Given the description of an element on the screen output the (x, y) to click on. 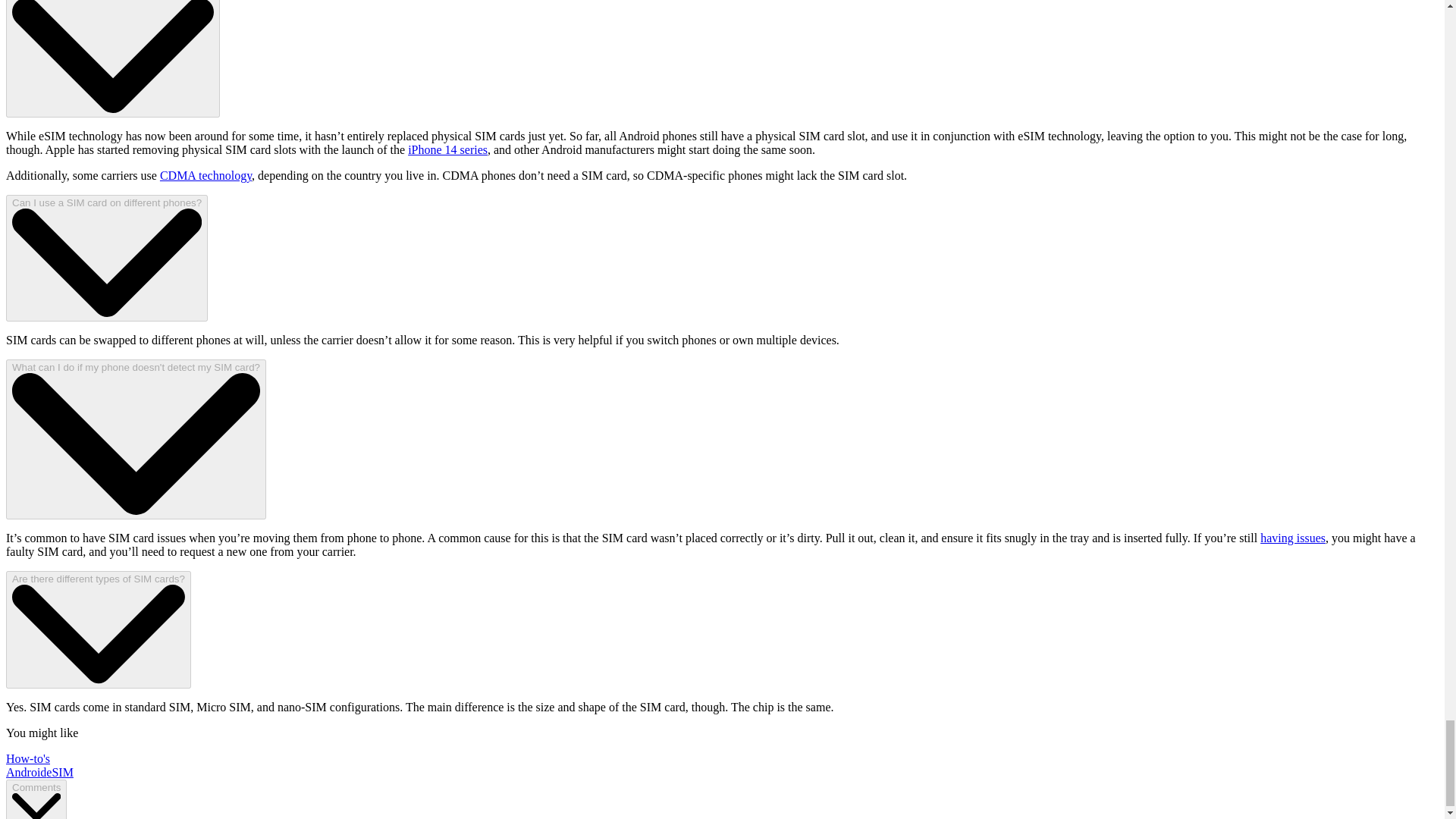
What can I do if my phone doesn't detect my SIM card? (135, 439)
How-to's (27, 758)
Can I use a SIM card on different phones? (106, 257)
having issues (1292, 537)
Are there different types of SIM cards? (97, 628)
iPhone 14 series (447, 149)
eSIM (60, 771)
Do all phones have a physical SIM card slot? (112, 58)
CDMA technology (205, 174)
Android (25, 771)
